Given the description of an element on the screen output the (x, y) to click on. 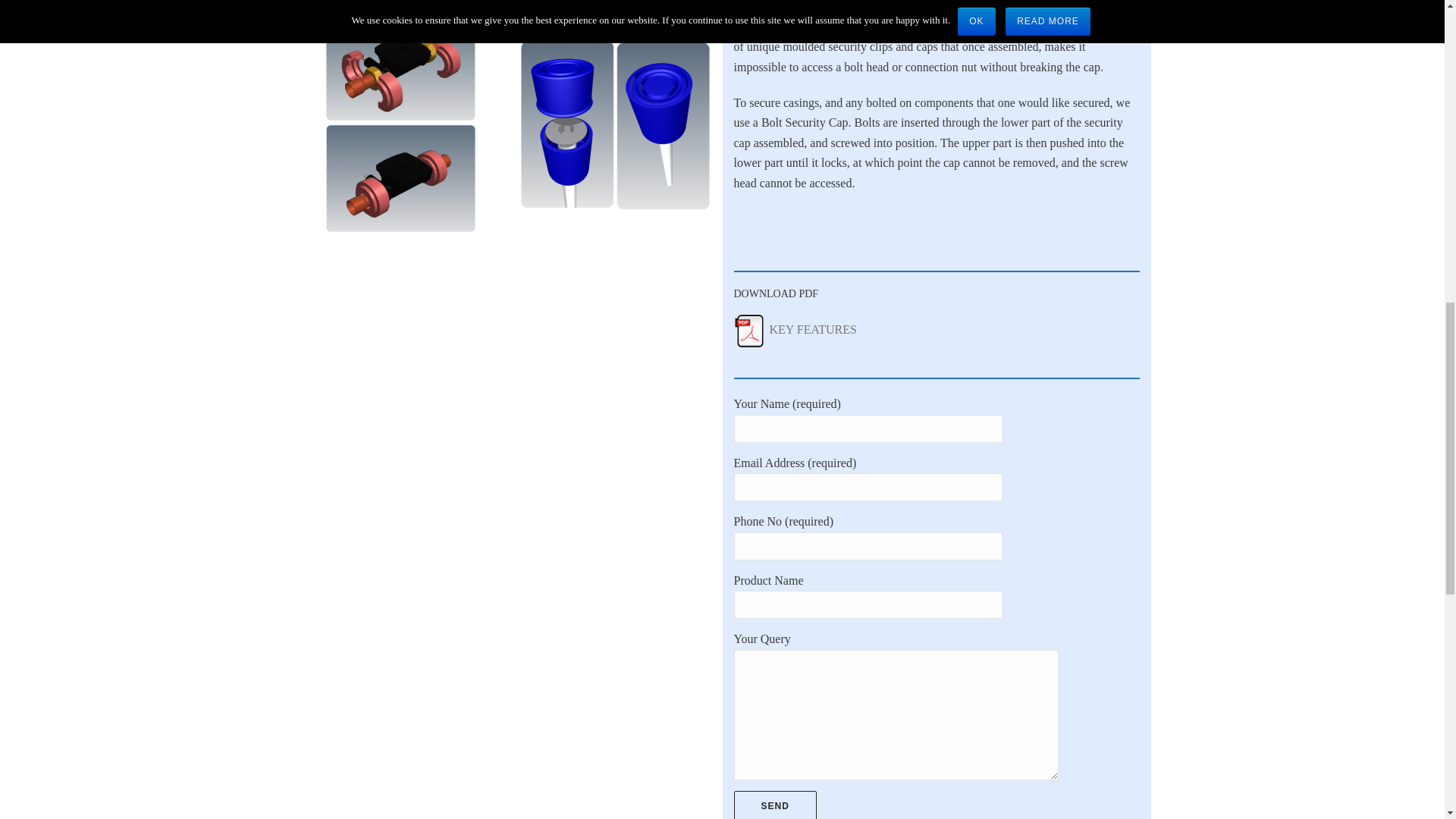
Send (774, 805)
dfss (614, 125)
